Given the description of an element on the screen output the (x, y) to click on. 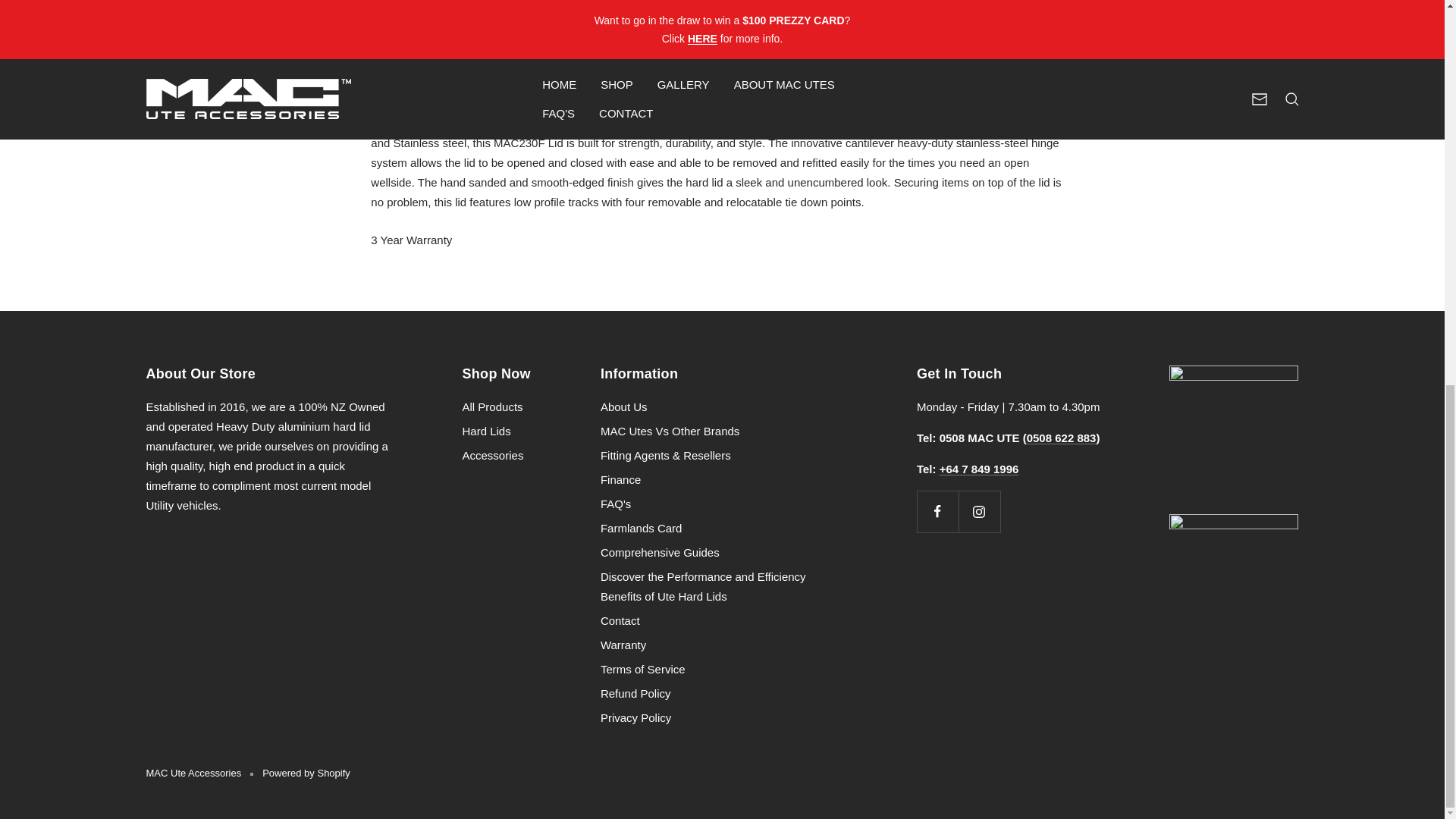
tel:0508622883 (722, 73)
